Given the description of an element on the screen output the (x, y) to click on. 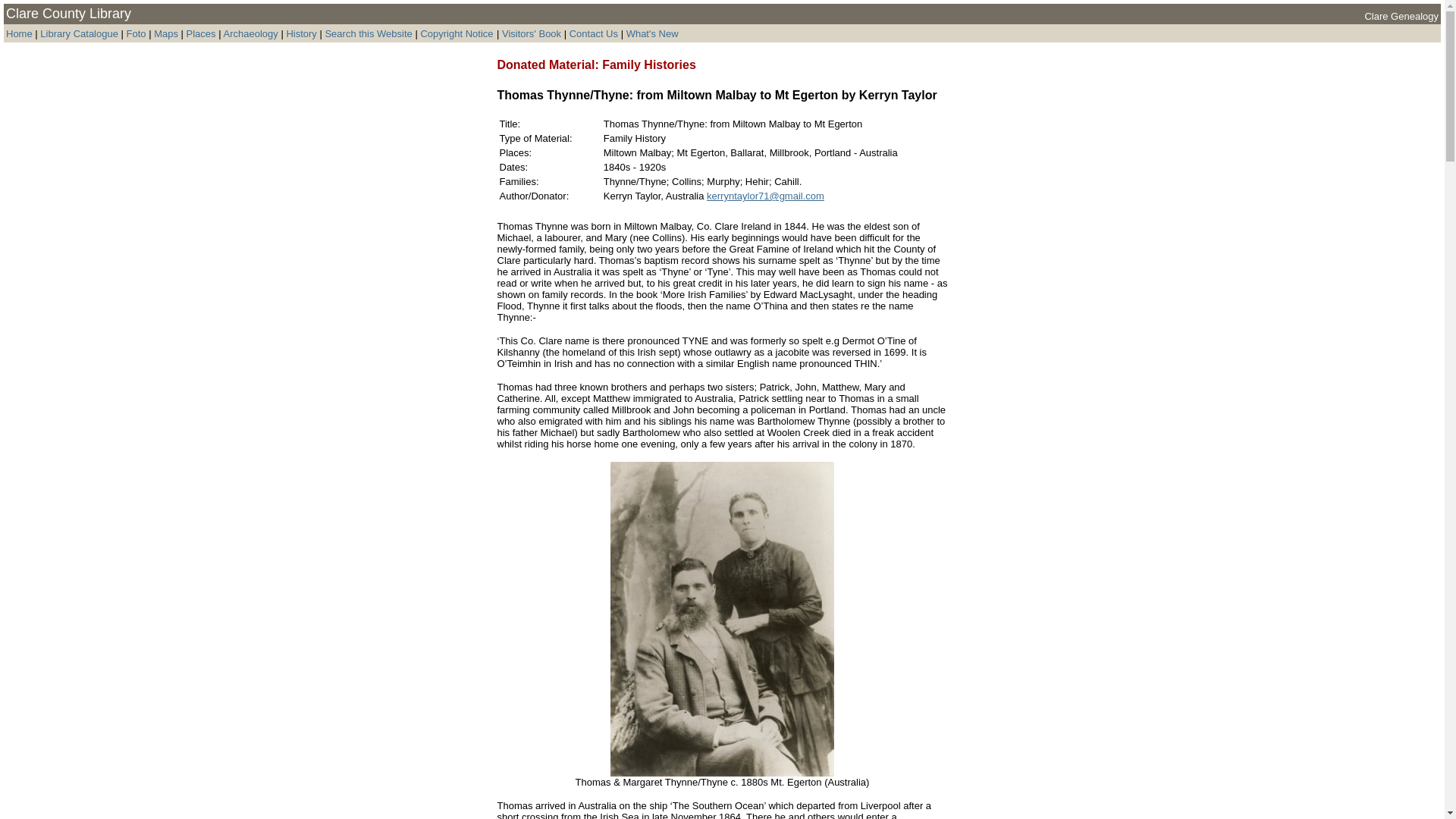
Visitors' Book (531, 33)
History (300, 33)
Archaeology (250, 33)
Contact Us (593, 33)
Search this Website (368, 33)
What's New (652, 33)
Library Catalogue (78, 33)
Copyright Notice (456, 33)
Maps (165, 33)
Home (18, 33)
Foto (137, 33)
Places (200, 33)
